Given the description of an element on the screen output the (x, y) to click on. 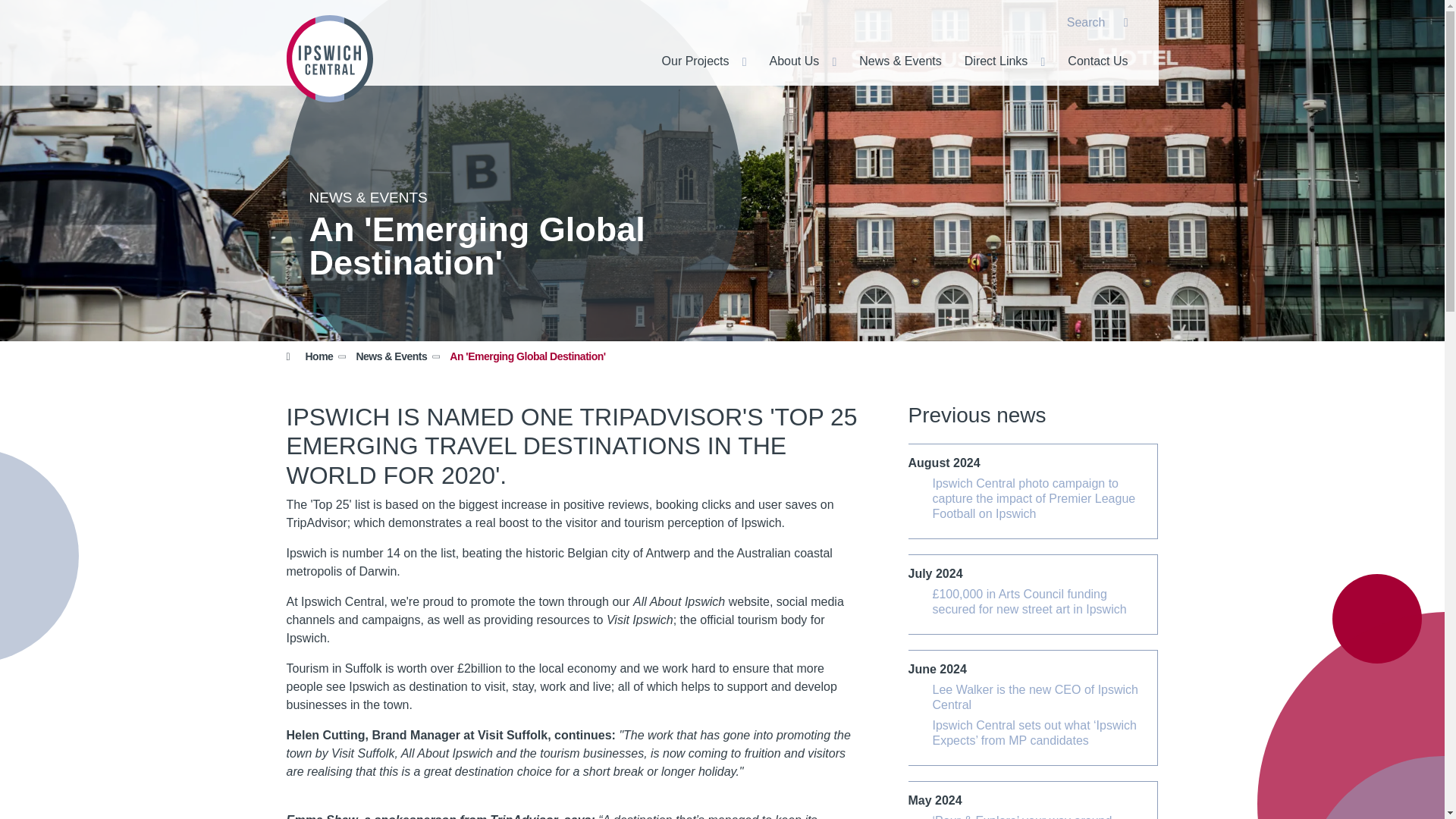
About Us (790, 60)
Search (1097, 22)
Lee Walker is the new CEO of Ipswich Central (1040, 697)
Lee Walker is the new CEO of Ipswich Central (1040, 697)
Direct Links (993, 60)
Home (318, 356)
Our Projects (692, 60)
Contact Us (1085, 60)
